Given the description of an element on the screen output the (x, y) to click on. 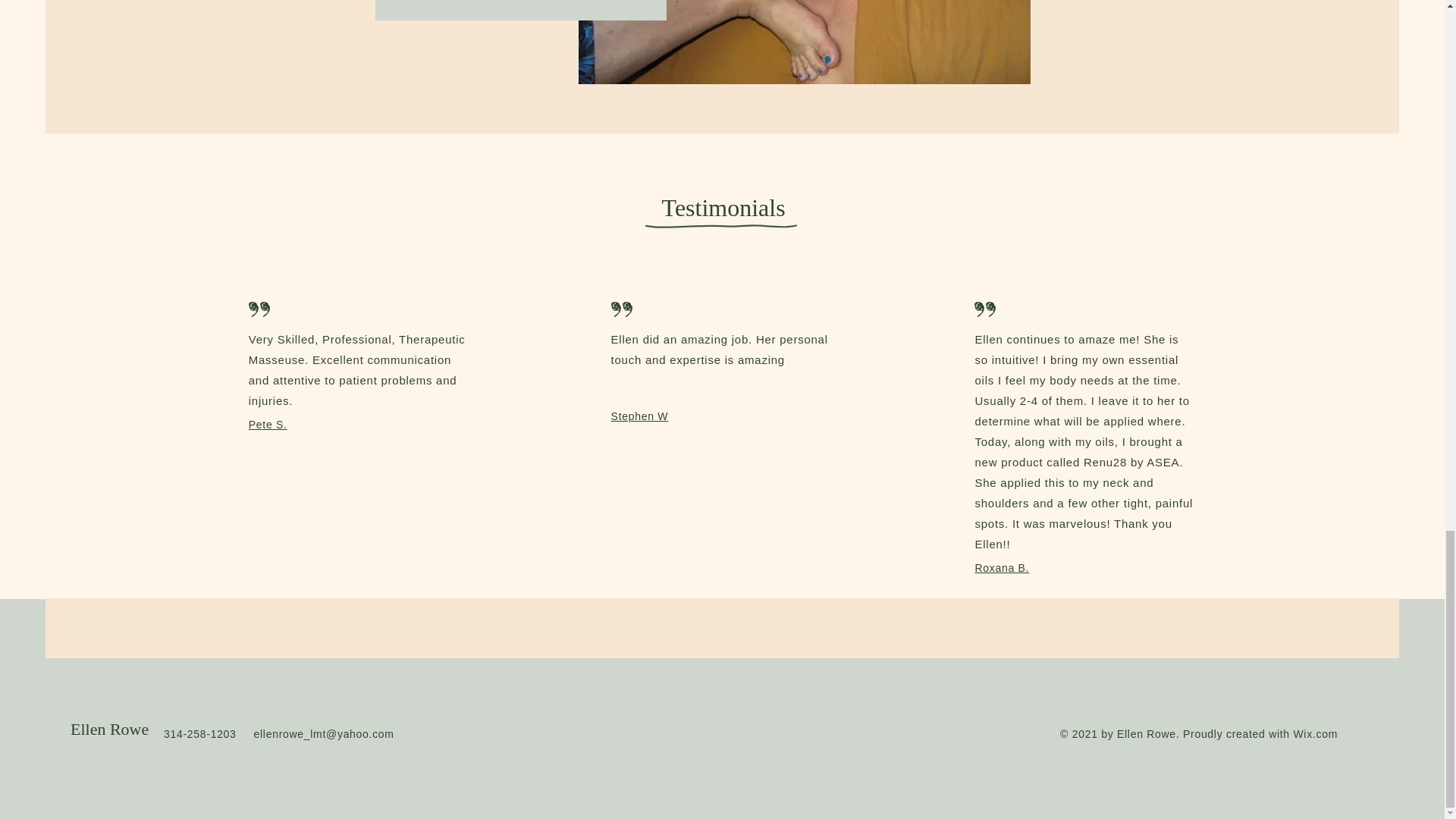
Wix.com (1315, 734)
Stephen W (639, 416)
Pete S. (267, 424)
Ellen Rowe (108, 728)
Roxana B. (1001, 567)
